Given the description of an element on the screen output the (x, y) to click on. 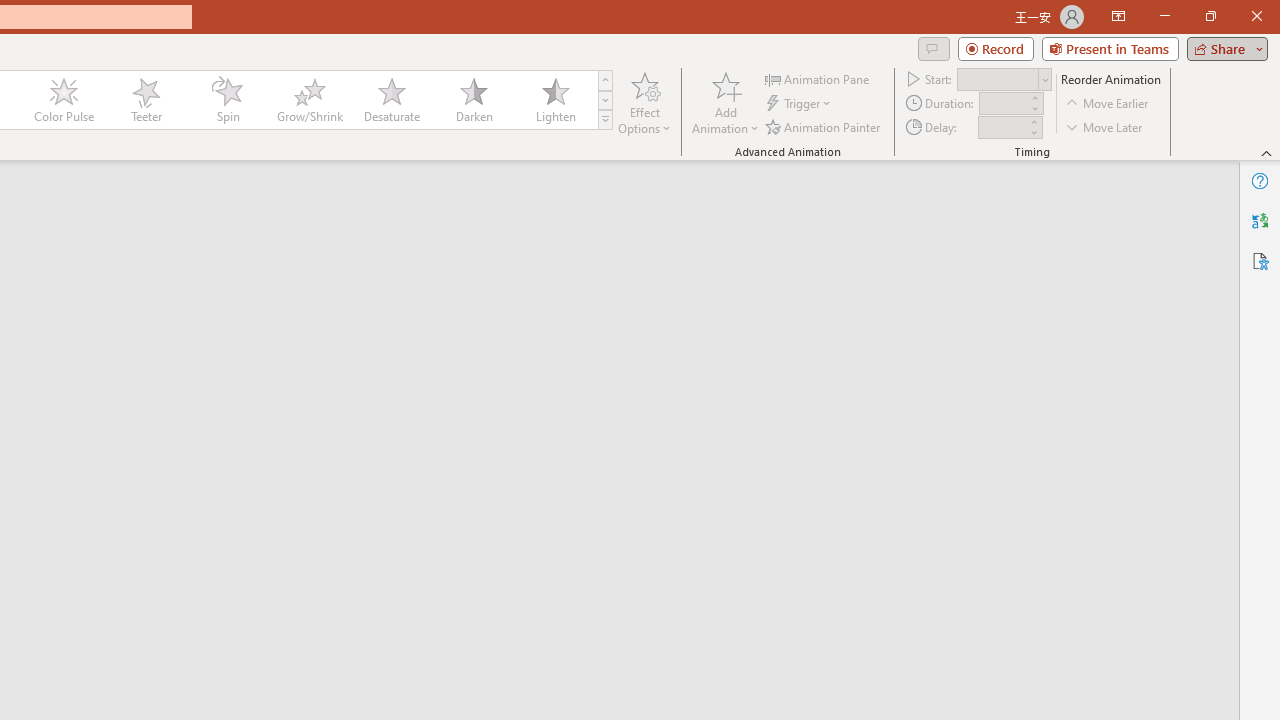
Animation Styles (605, 120)
Lighten (555, 100)
Trigger (799, 103)
Add Animation (725, 102)
Desaturate (391, 100)
